Given the description of an element on the screen output the (x, y) to click on. 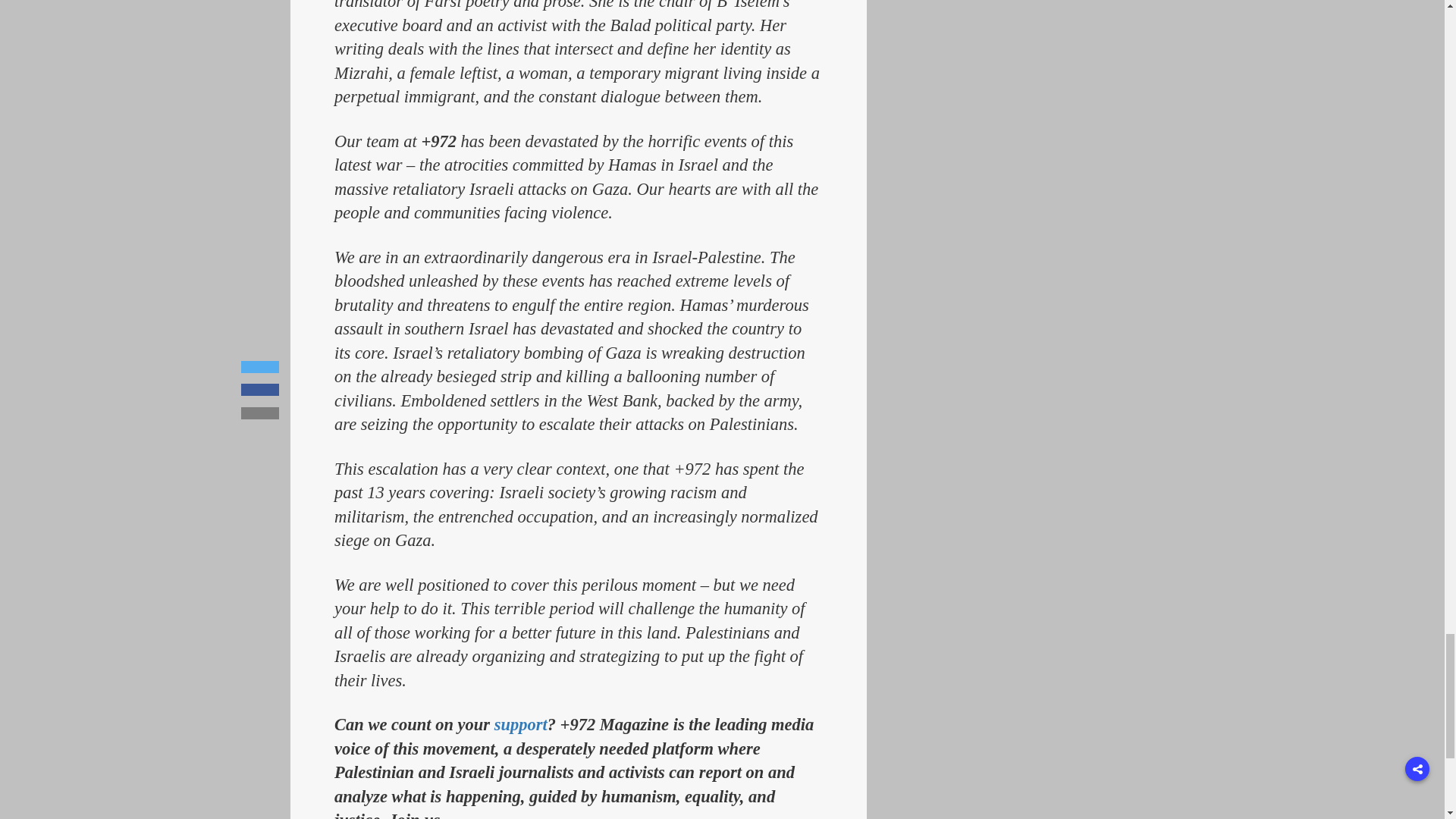
support (521, 723)
